Given the description of an element on the screen output the (x, y) to click on. 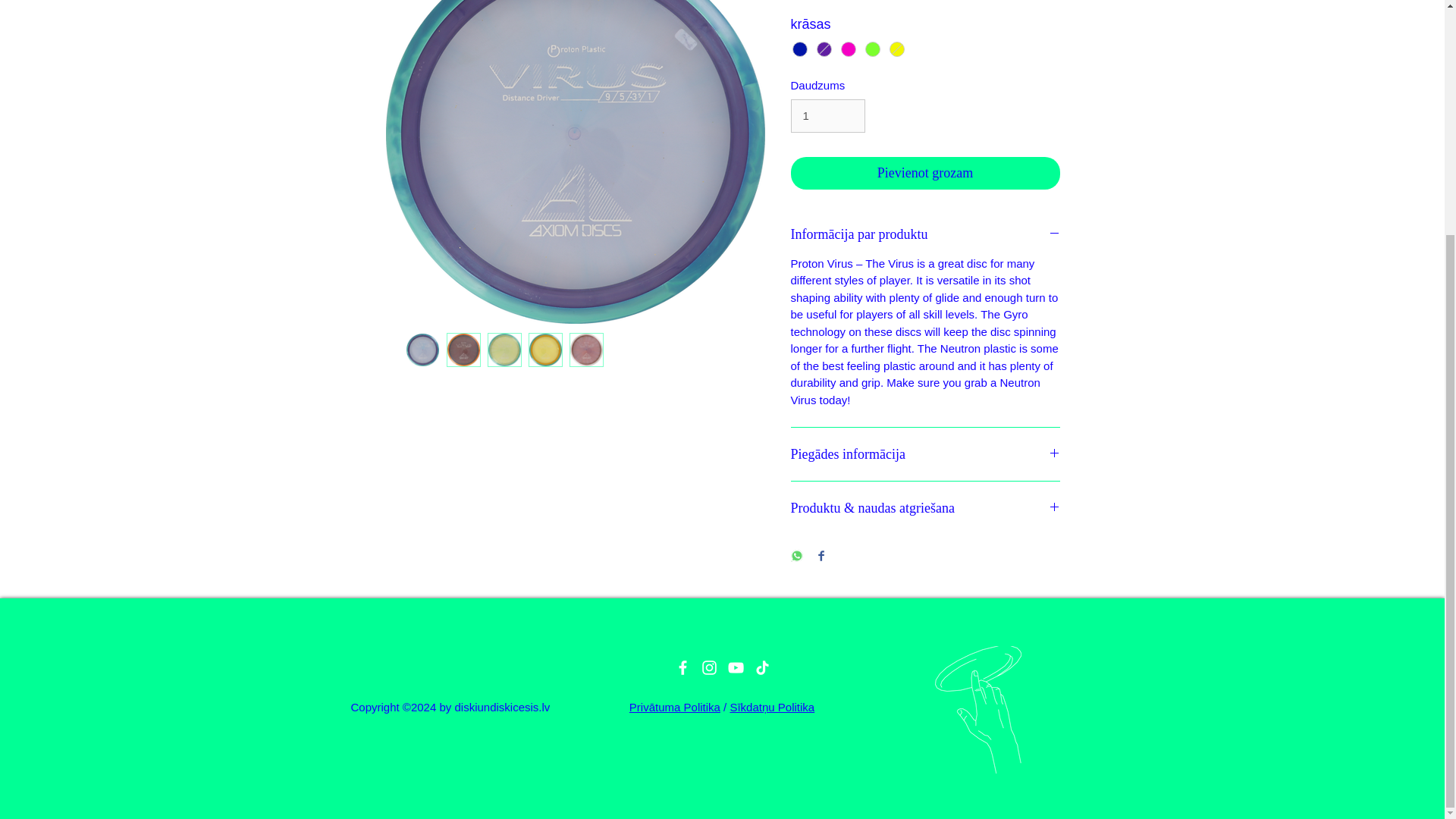
1 (827, 115)
Pievienot grozam (924, 173)
